Given the description of an element on the screen output the (x, y) to click on. 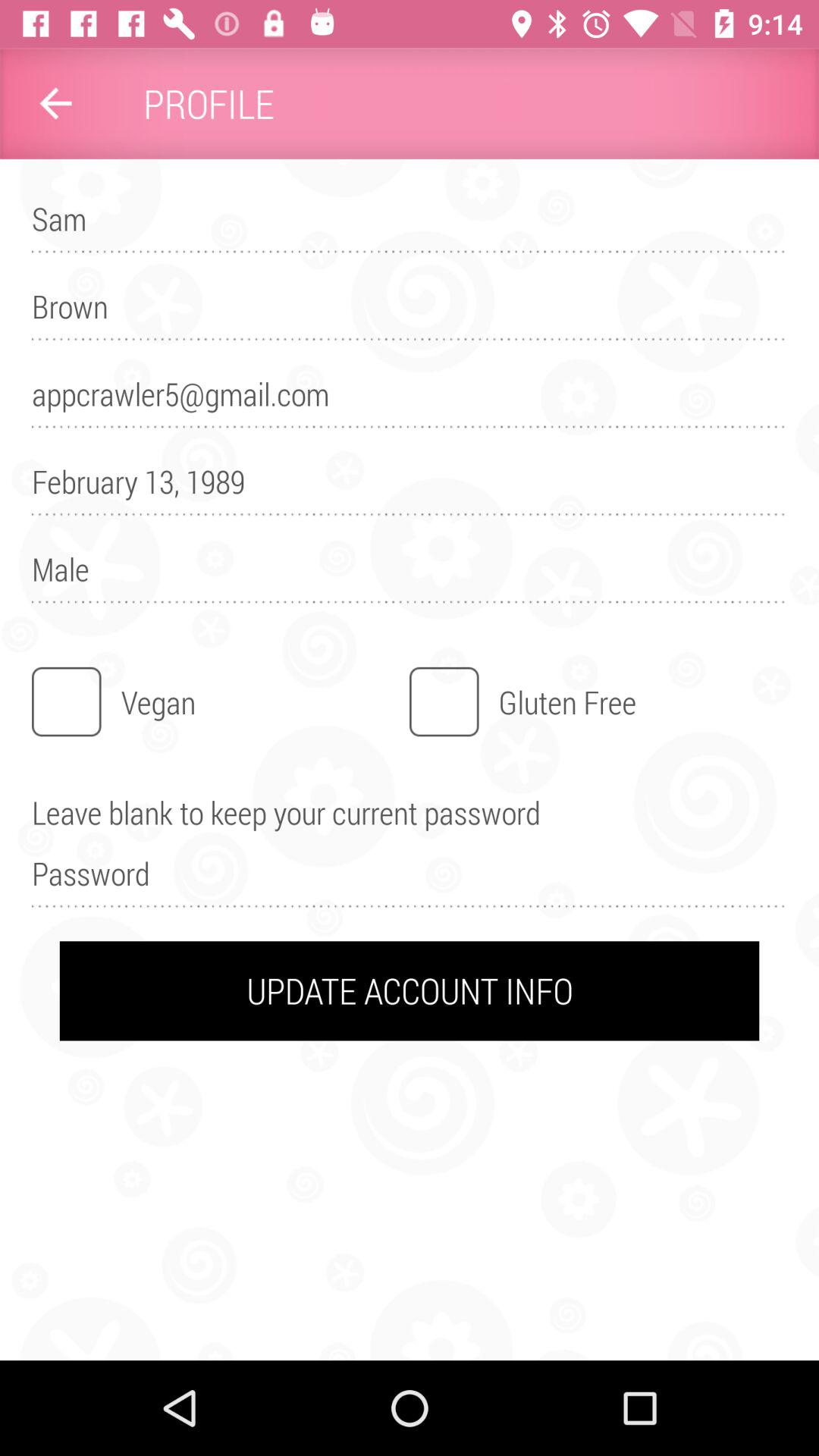
choose icon above the appcrawler5@gmail.com item (409, 313)
